Given the description of an element on the screen output the (x, y) to click on. 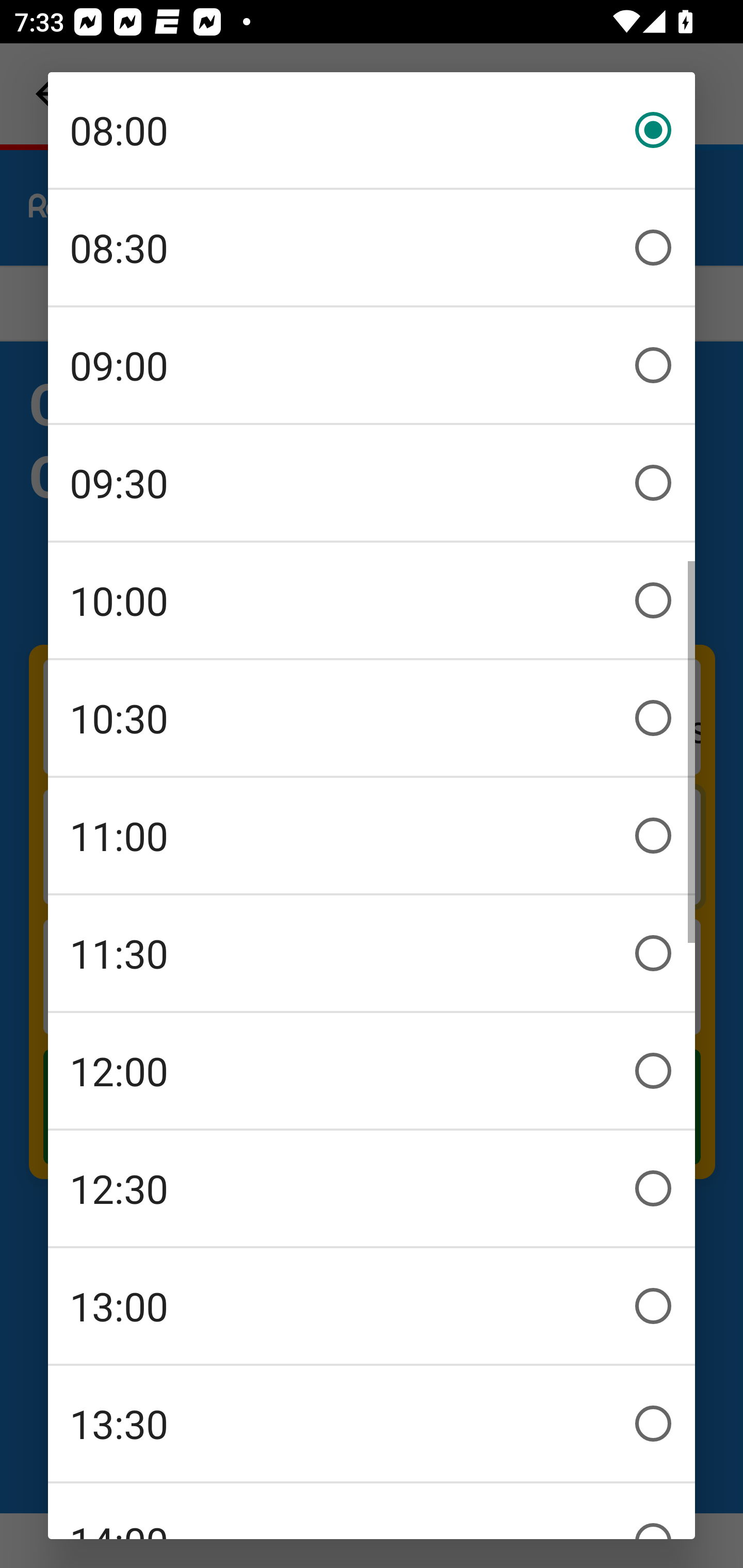
08:00 (371, 130)
08:30 (371, 247)
09:00 (371, 365)
09:30 (371, 482)
10:00 (371, 600)
10:30 (371, 718)
11:00 (371, 835)
11:30 (371, 953)
12:00 (371, 1070)
12:30 (371, 1188)
13:00 (371, 1306)
13:30 (371, 1423)
